Given the description of an element on the screen output the (x, y) to click on. 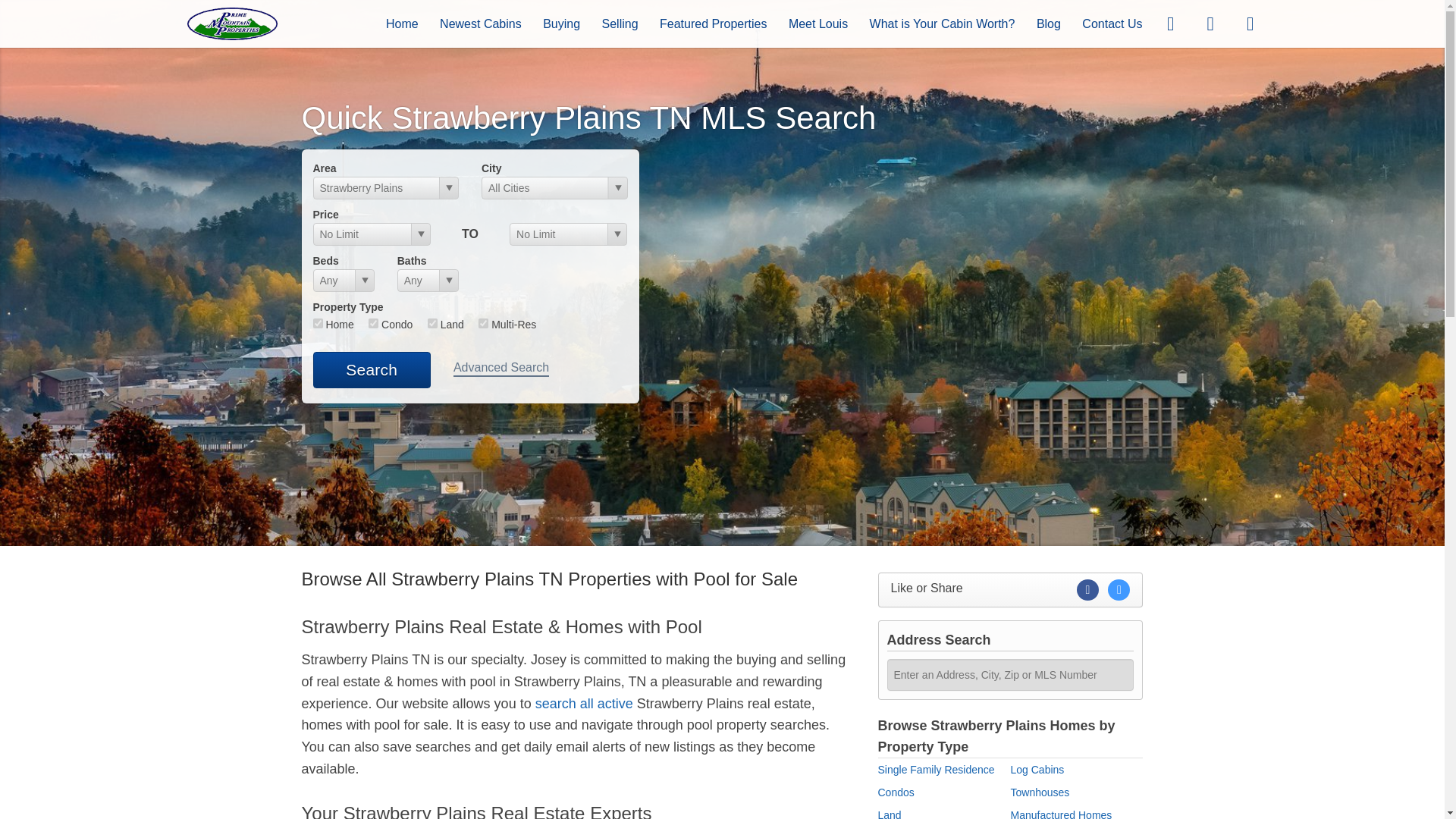
res (317, 323)
Townhouses (1039, 792)
mul (483, 323)
Like or Share (1009, 589)
Strawberry Plains Real Estate with Pool (578, 626)
con (373, 323)
Featured Properties (713, 23)
Condos (895, 792)
What is Your Cabin Worth? (941, 23)
Newest Cabins (480, 23)
lnd (433, 323)
Log Cabins (1037, 769)
Advanced Search (500, 368)
Selling (620, 23)
Search (371, 370)
